Given the description of an element on the screen output the (x, y) to click on. 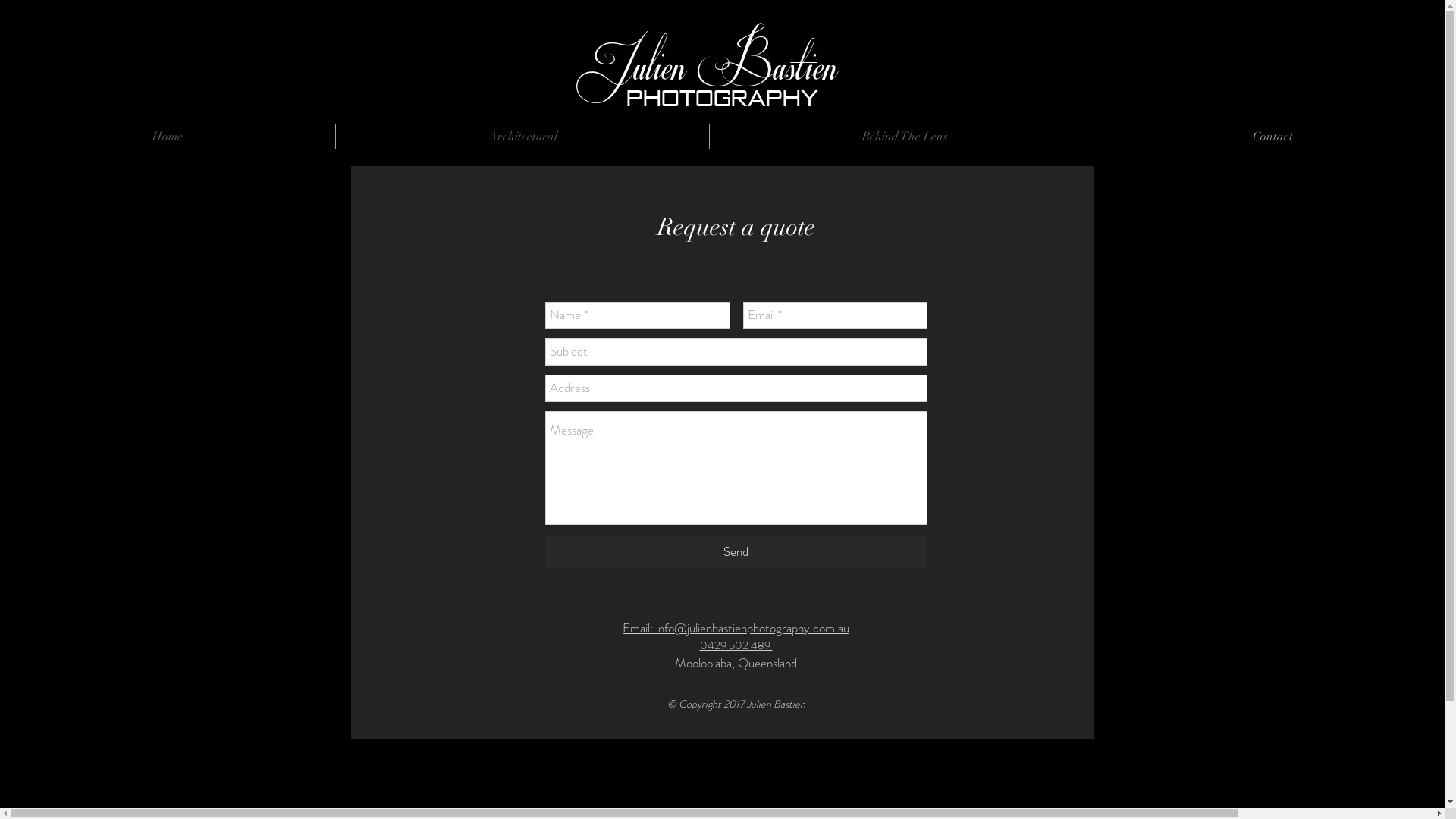
Architectural Element type: text (522, 136)
Behind The Lens Element type: text (904, 136)
0429 502 489  Element type: text (735, 645)
PHOTOGRAPHY Element type: text (722, 97)
Email: info@julienbastienphotography.com.au Element type: text (735, 627)
Julien Bastien Element type: text (708, 63)
Home Element type: text (167, 136)
Contact Element type: text (1272, 136)
Send Element type: text (735, 551)
